Given the description of an element on the screen output the (x, y) to click on. 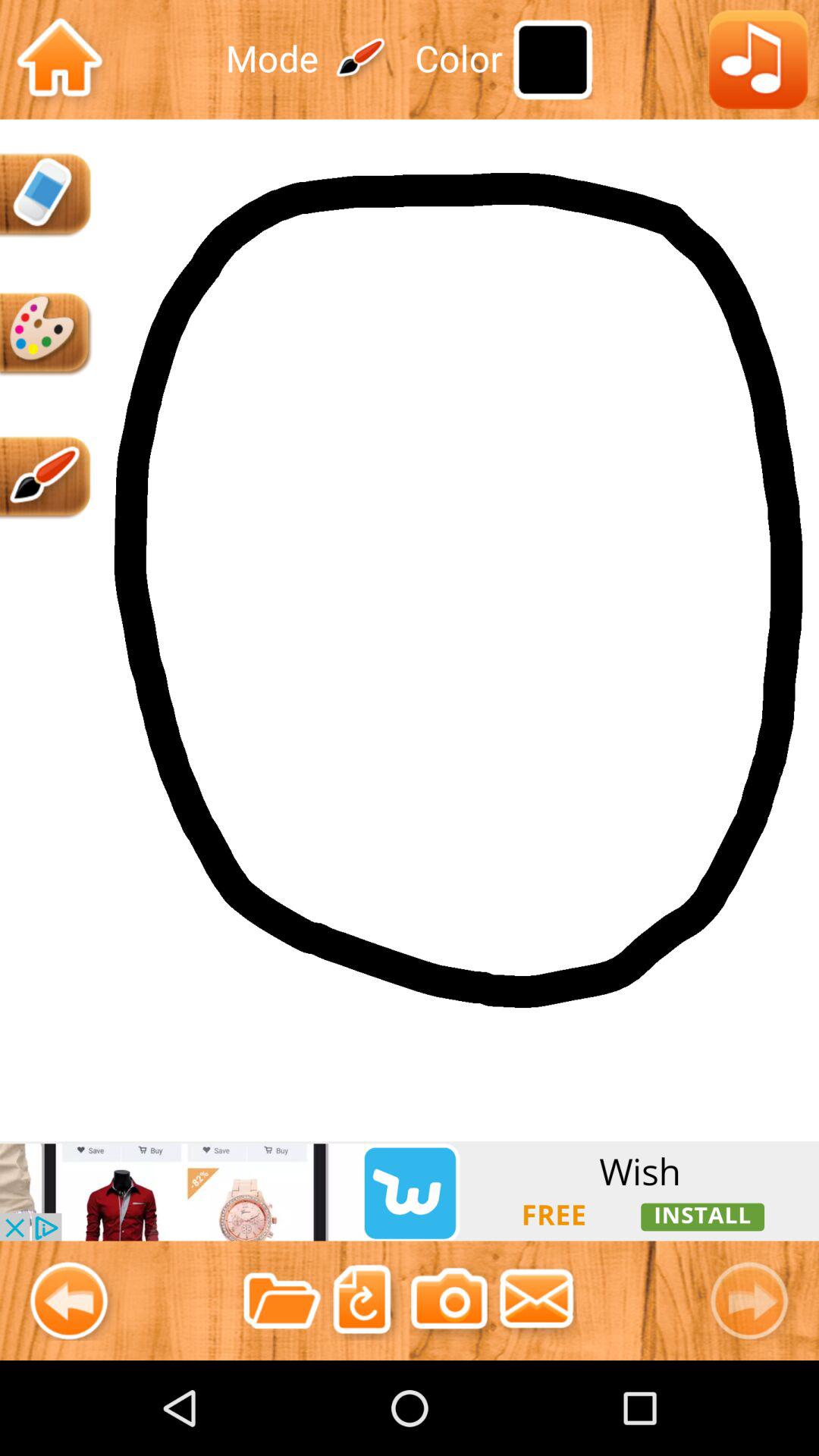
color palette (46, 334)
